Given the description of an element on the screen output the (x, y) to click on. 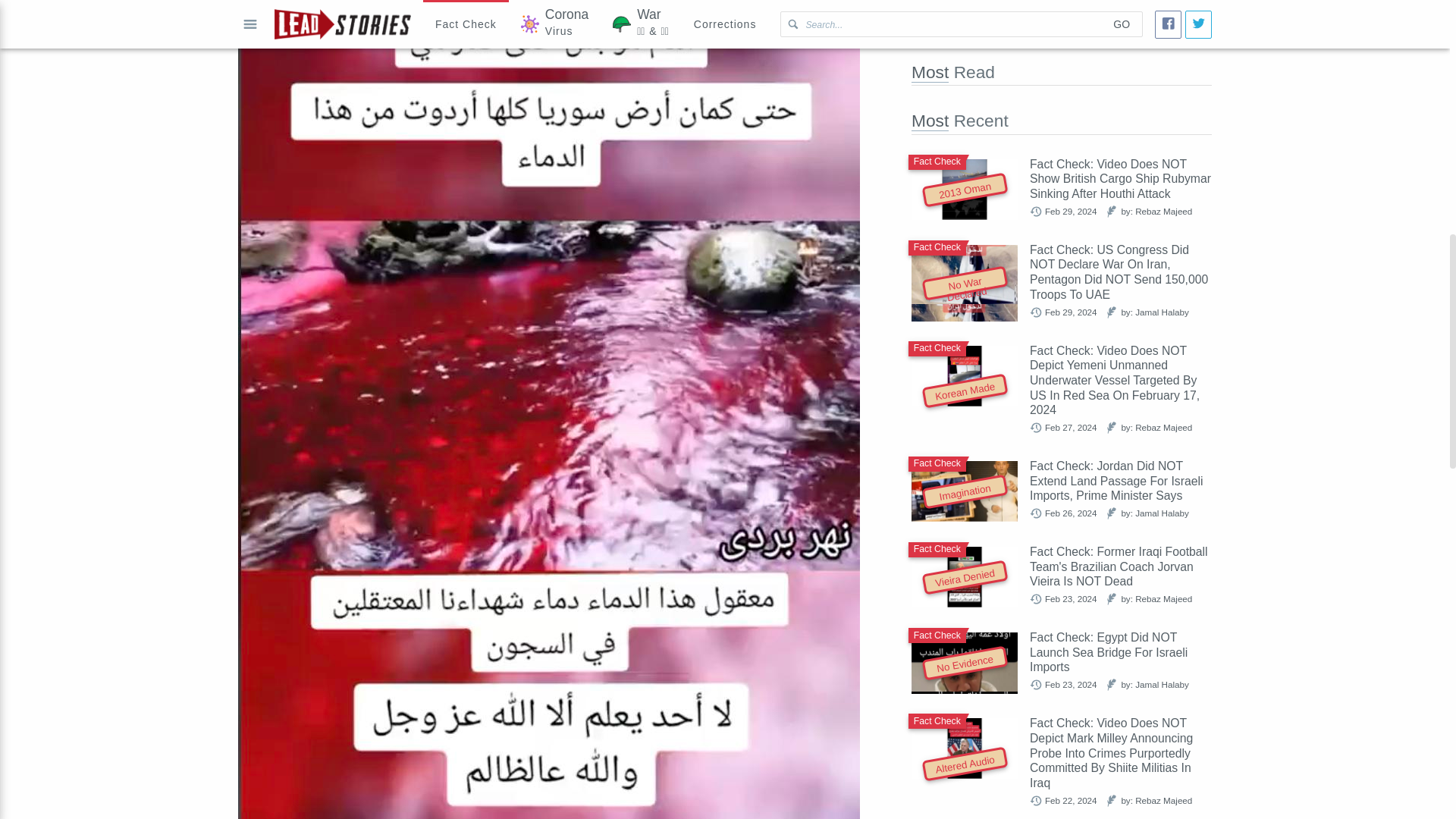
Subscribe (954, 24)
Subscribe (954, 24)
